Given the description of an element on the screen output the (x, y) to click on. 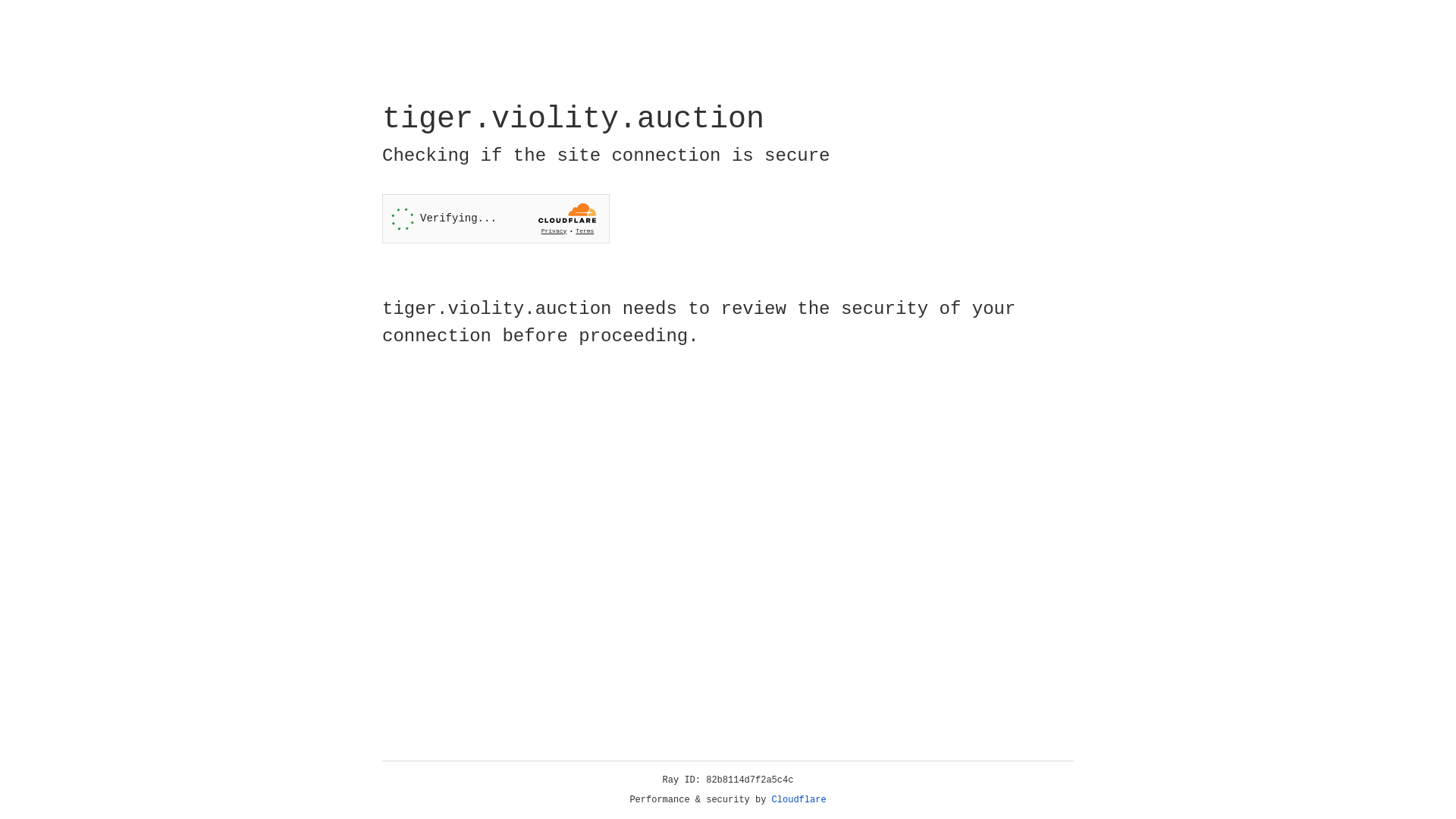
Cloudflare Element type: text (798, 799)
Widget containing a Cloudflare security challenge Element type: hover (495, 218)
